Given the description of an element on the screen output the (x, y) to click on. 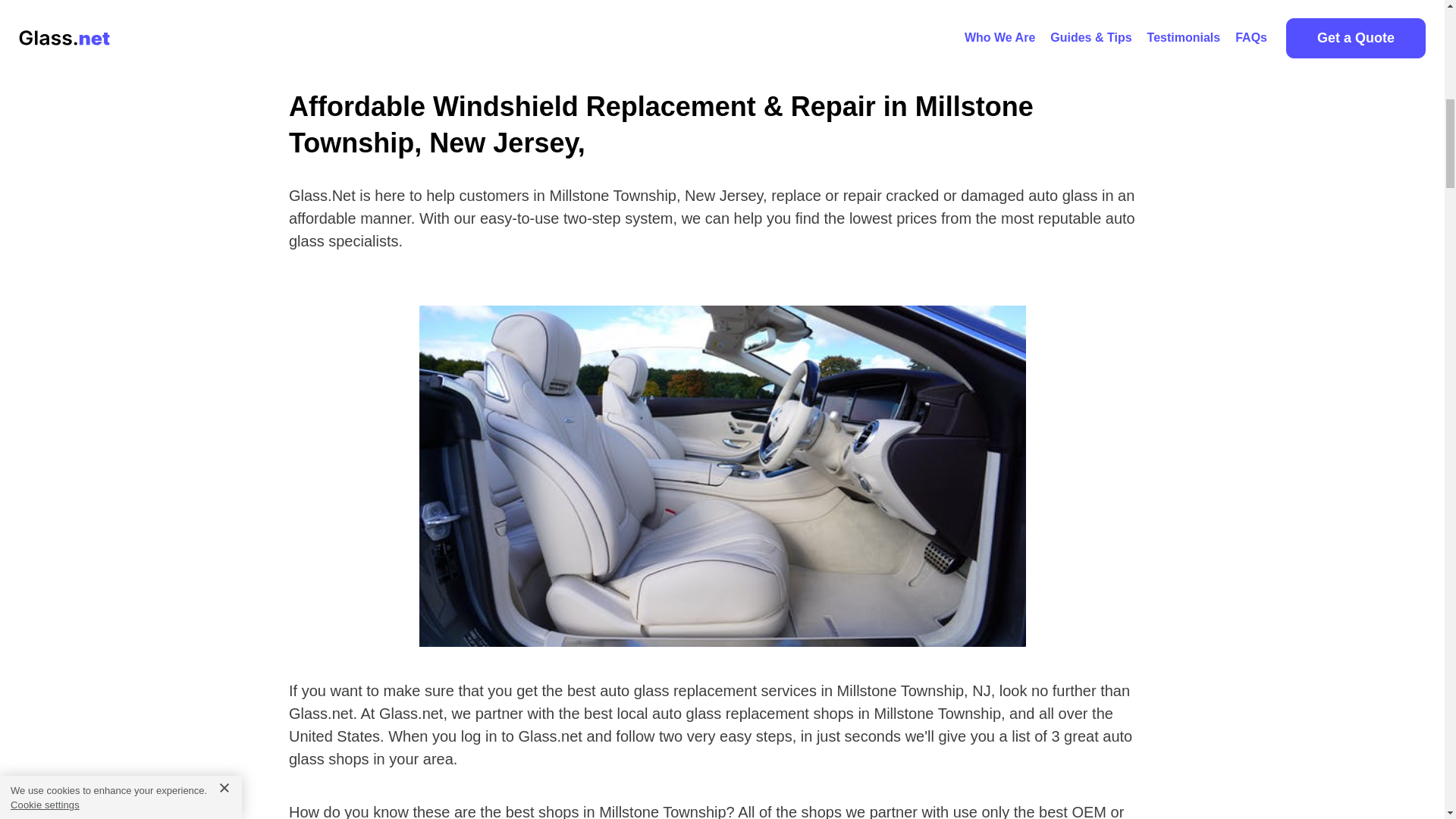
Home (591, 15)
Local (646, 15)
Millstone Township (821, 15)
New Jersey (717, 15)
